Given the description of an element on the screen output the (x, y) to click on. 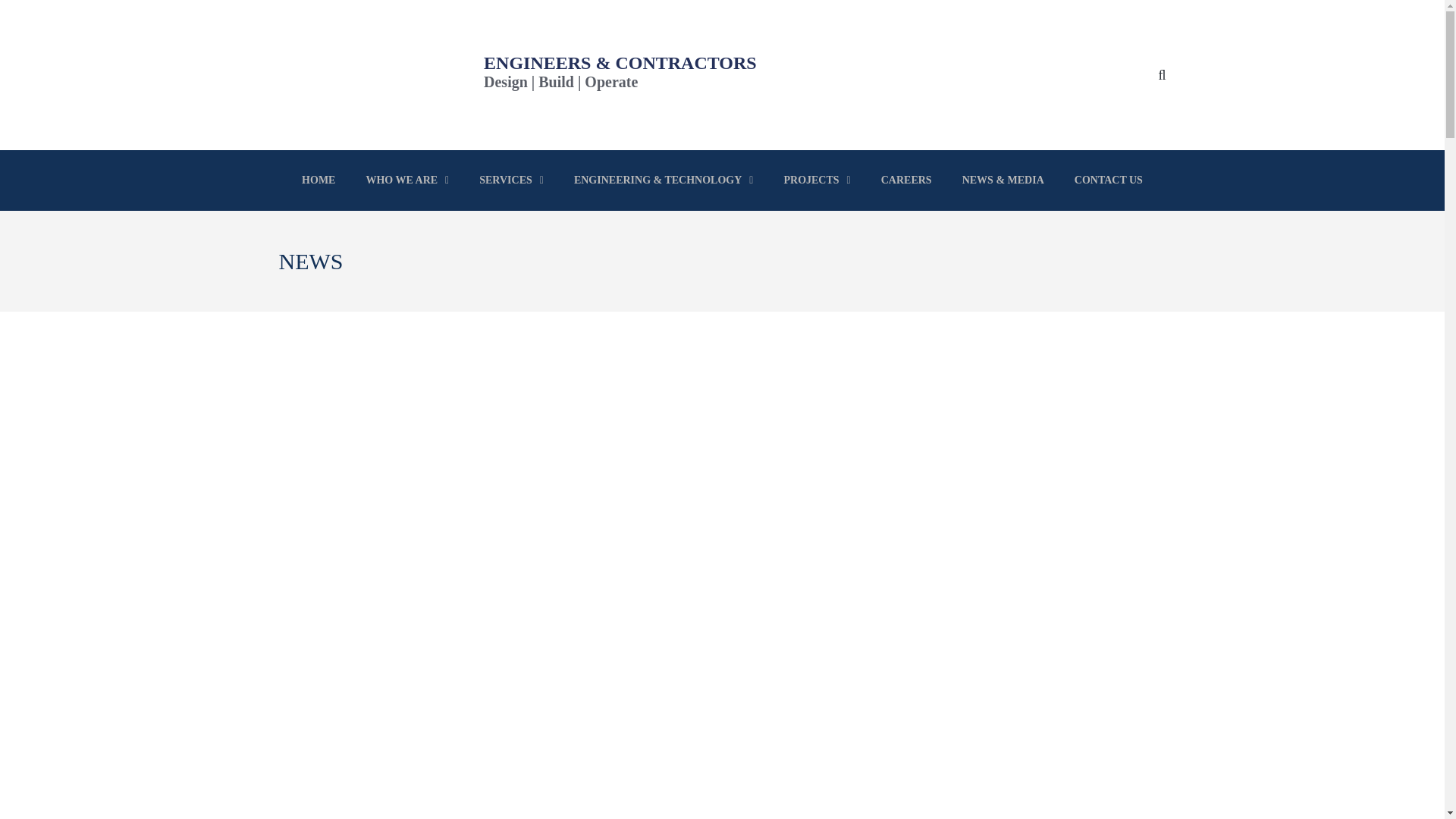
SERVICES (511, 179)
CAREERS (906, 179)
HOME (318, 179)
PROJECTS (816, 179)
WHO WE ARE (407, 179)
CONTACT US (1108, 179)
